Given the description of an element on the screen output the (x, y) to click on. 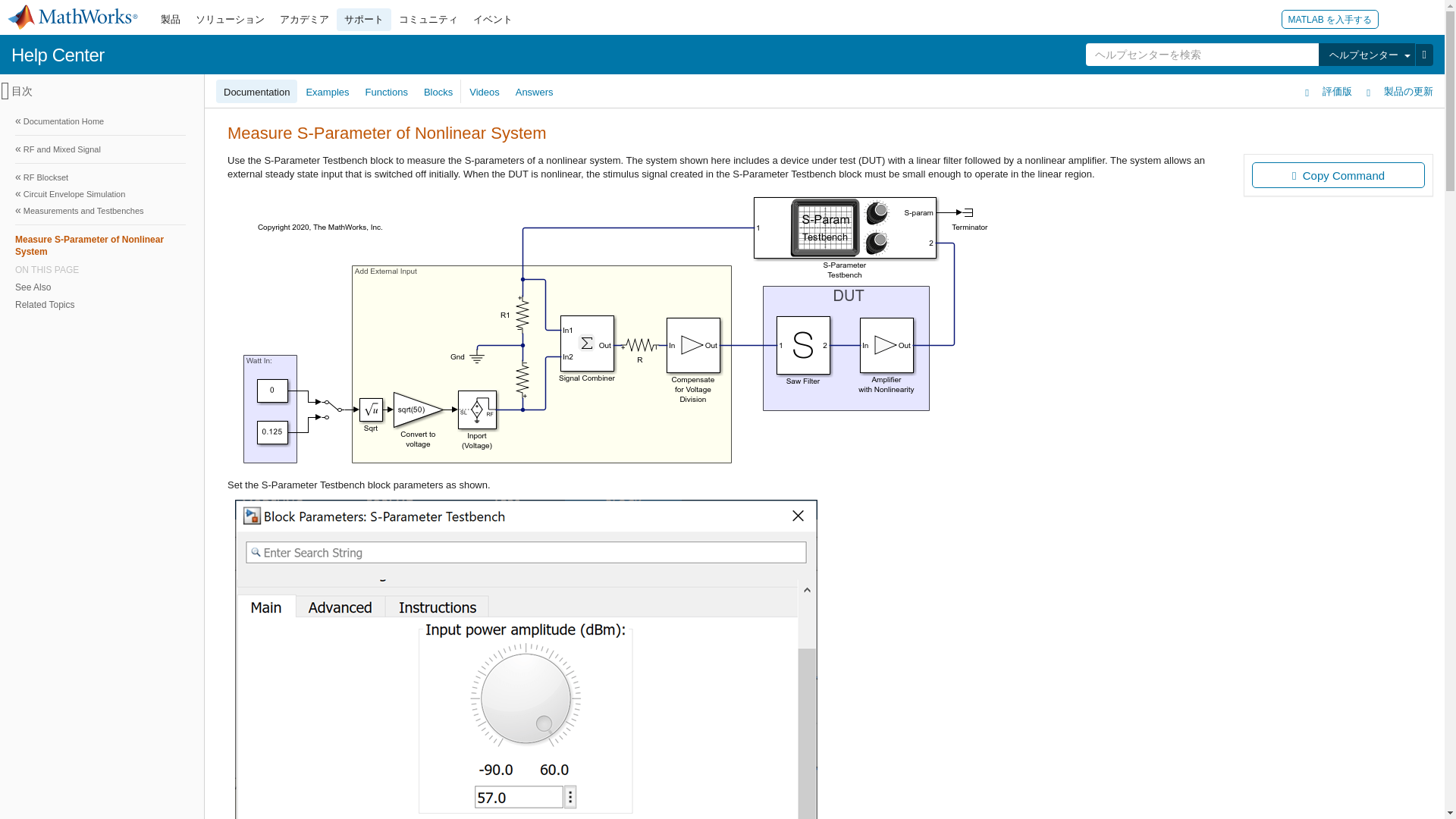
Measure S-Parameter of Nonlinear System (98, 245)
Measure S-Parameter of Nonlinear System (100, 245)
Documentation Home (100, 121)
RF and Mixed Signal (100, 149)
ON THIS PAGE (100, 269)
RF Blockset (100, 176)
Circuit Envelope Simulation (100, 193)
Measurements and Testbenches (100, 210)
See Also (98, 286)
